Given the description of an element on the screen output the (x, y) to click on. 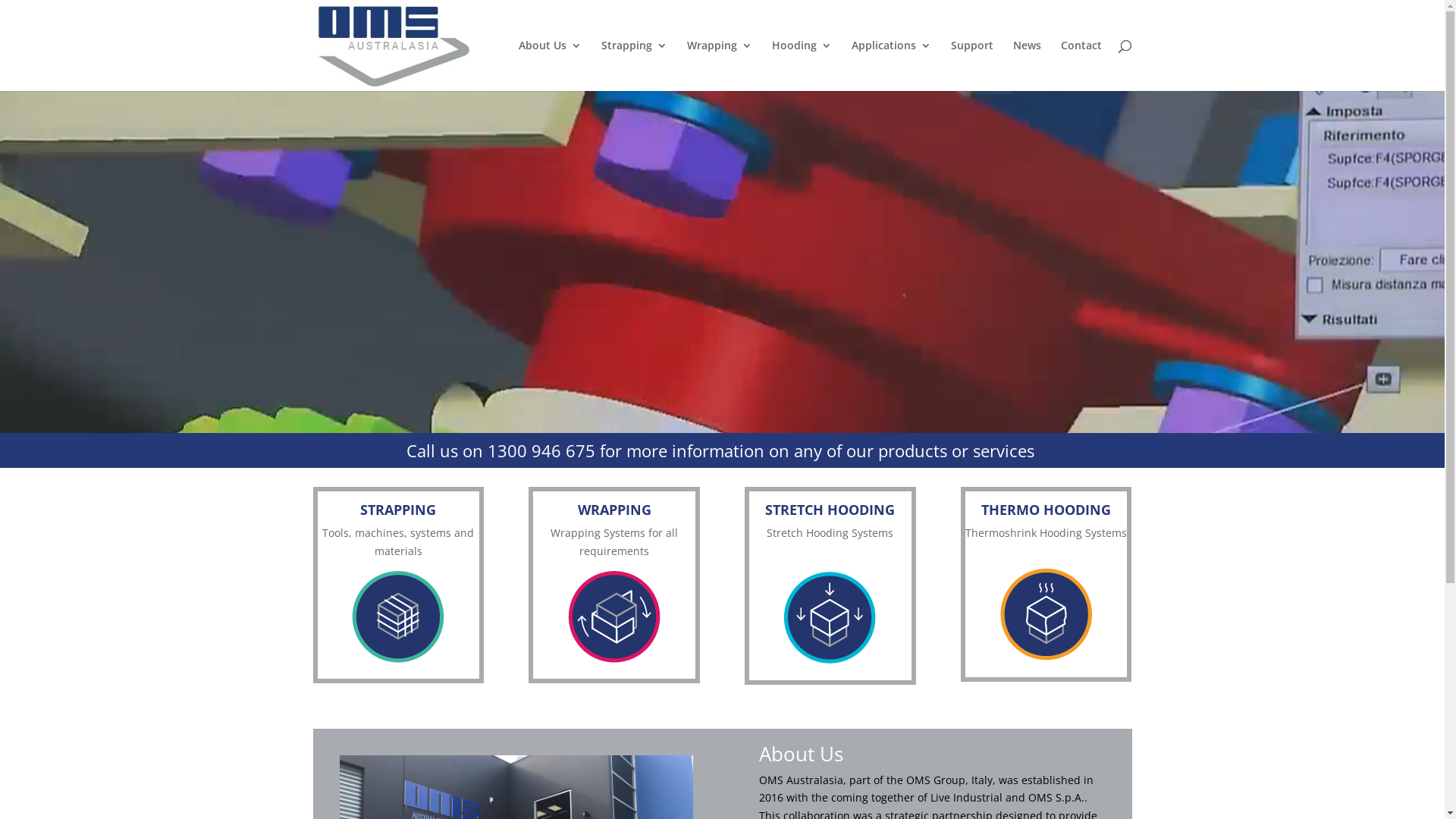
STRETCH HOODING Element type: text (829, 509)
About Us Element type: text (549, 65)
Wrapping Element type: text (719, 65)
Hooding Element type: text (801, 65)
THERMO HOODING Element type: text (1045, 509)
Applications Element type: text (890, 65)
Contact Element type: text (1080, 65)
WRAPPING Element type: text (614, 509)
Support Element type: text (971, 65)
News Element type: text (1027, 65)
Strapping Element type: text (633, 65)
STRAPPING Element type: text (398, 509)
